Given the description of an element on the screen output the (x, y) to click on. 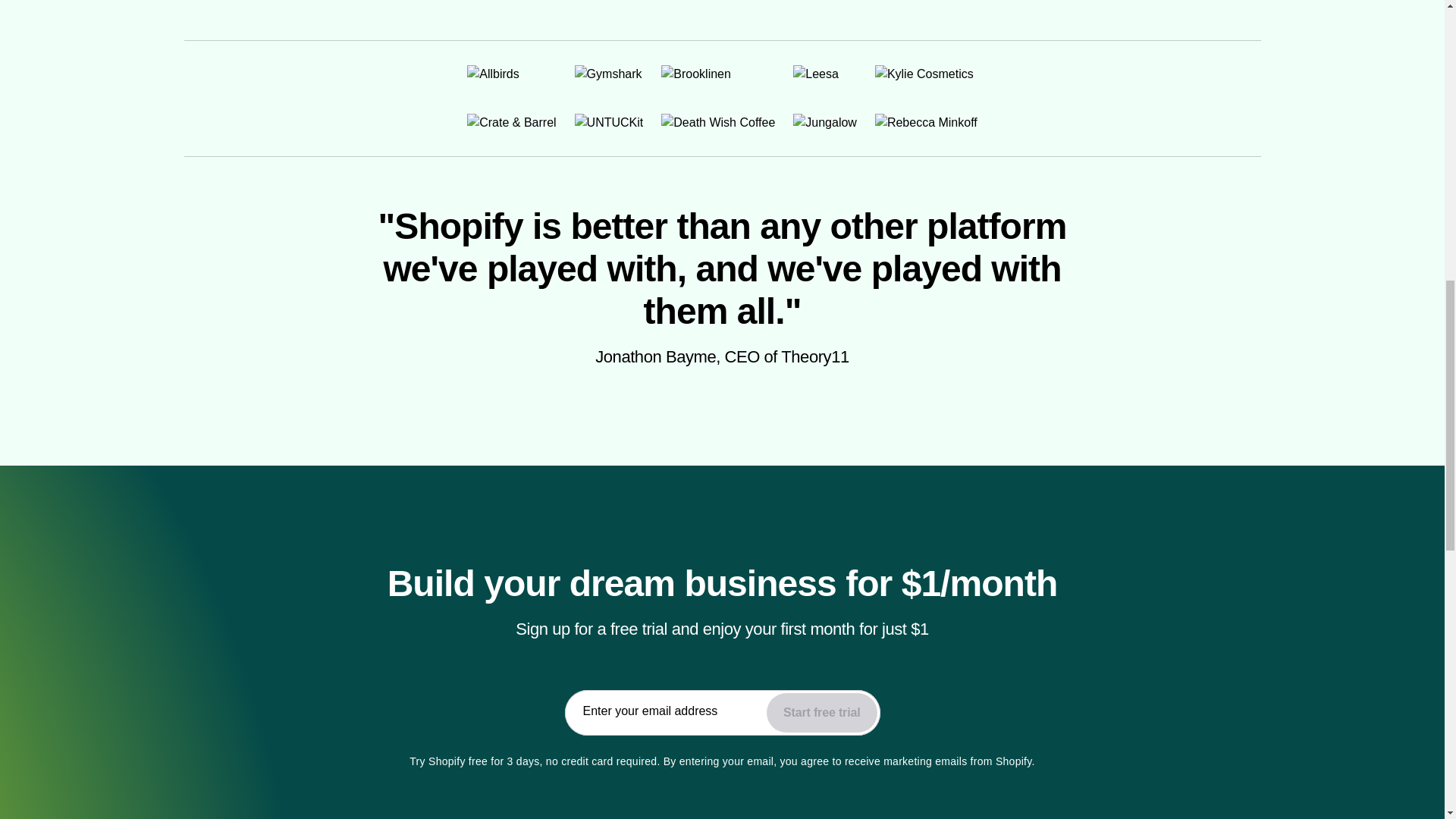
Start free trial (821, 712)
